Given the description of an element on the screen output the (x, y) to click on. 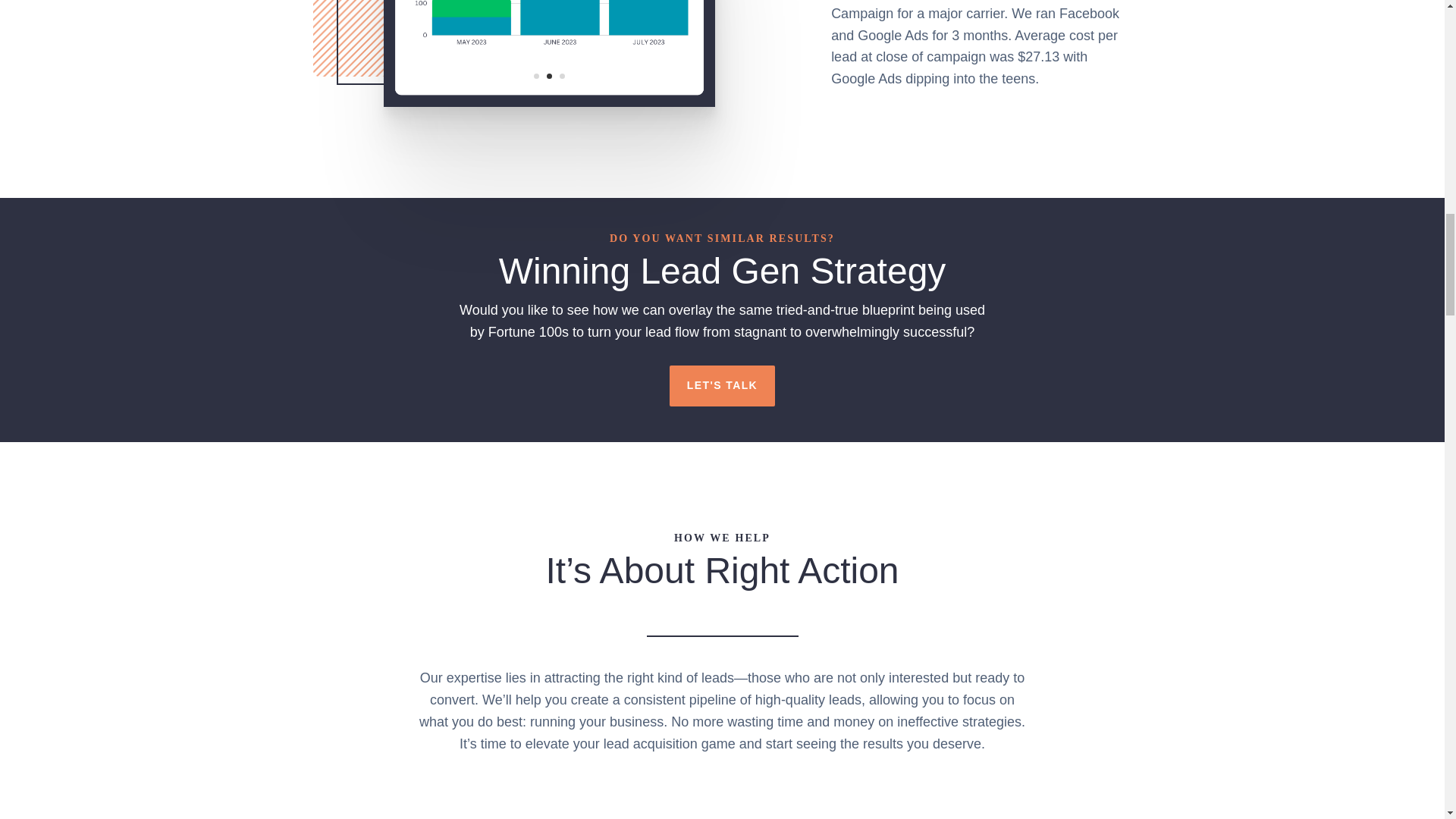
LET'S TALK (721, 385)
